Given the description of an element on the screen output the (x, y) to click on. 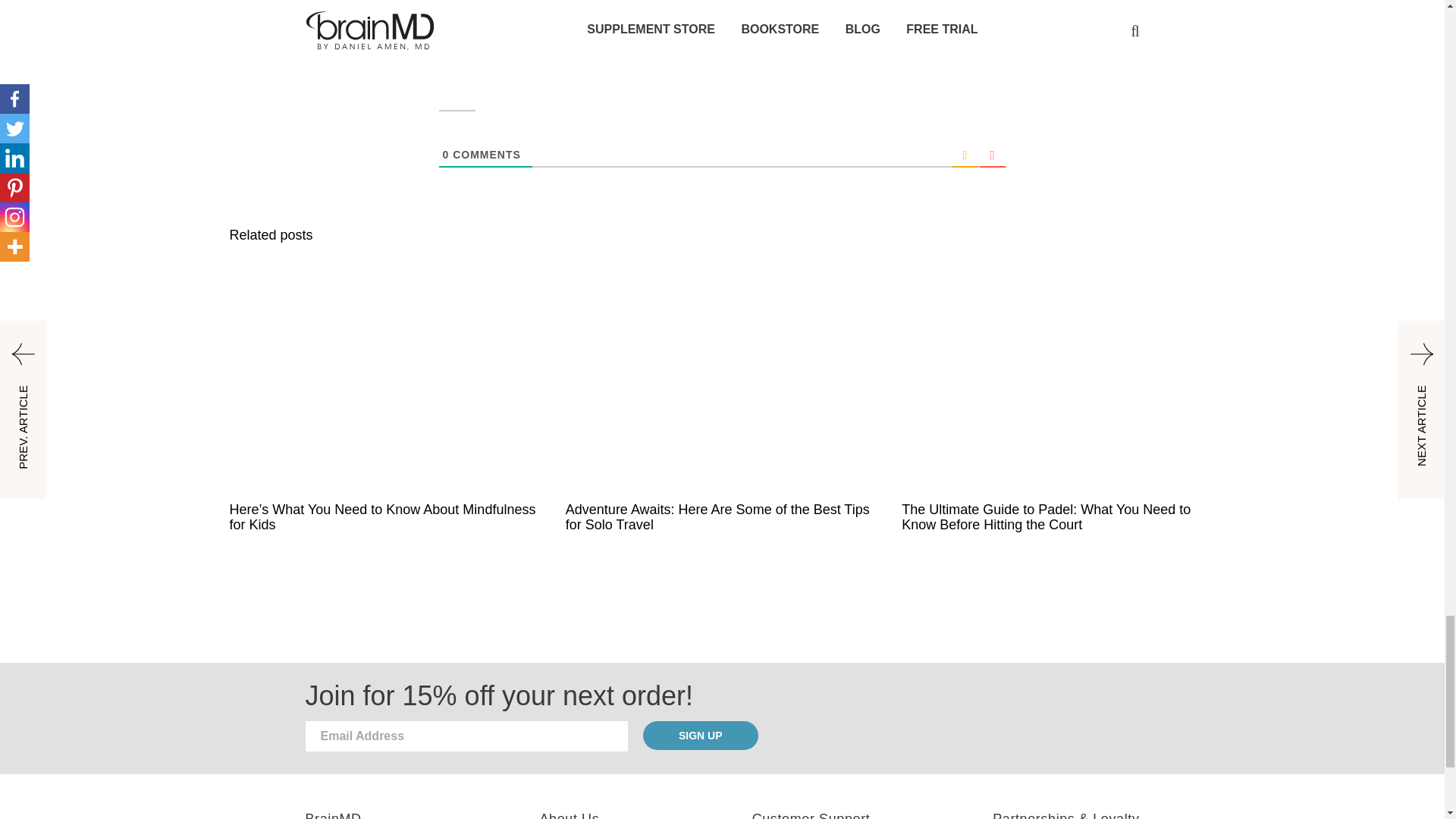
Sign Up (700, 735)
